Given the description of an element on the screen output the (x, y) to click on. 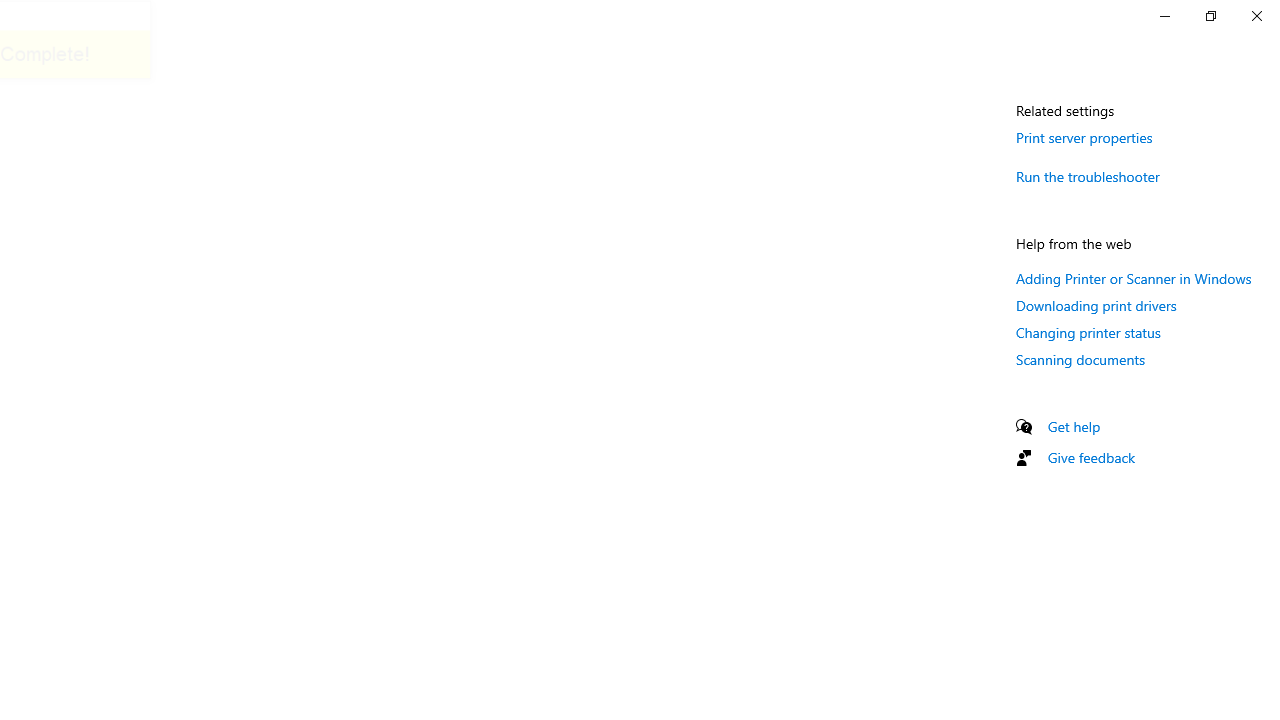
Run the troubleshooter (1087, 176)
Downloading print drivers (1096, 305)
Print server properties (1084, 137)
Adding Printer or Scanner in Windows (1133, 278)
Scanning documents (1080, 358)
Changing printer status (1088, 332)
